Given the description of an element on the screen output the (x, y) to click on. 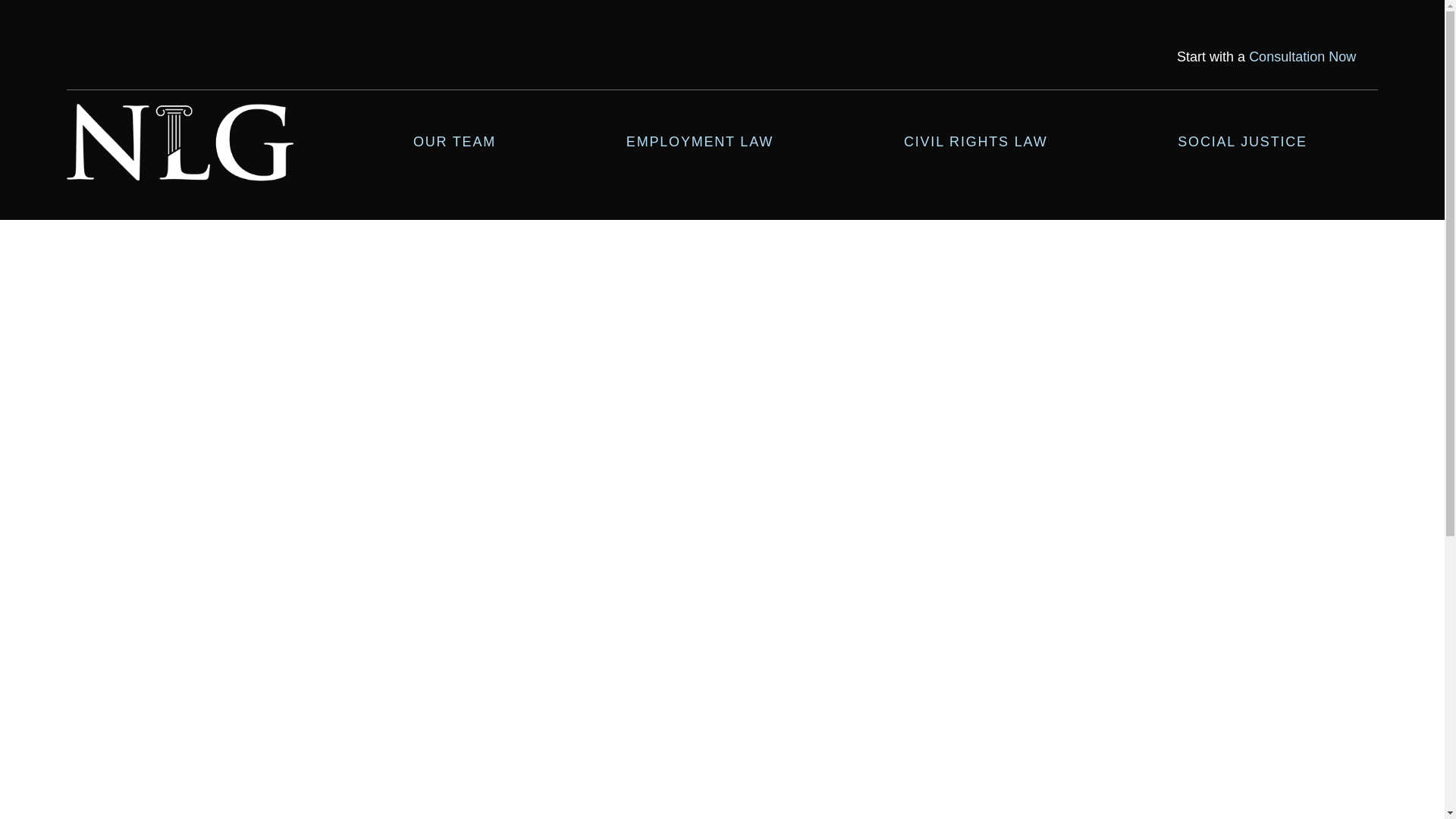
Nisar Law Group, P.C. (180, 142)
OUR TEAM (454, 142)
Open the accessibility options menu (1412, 786)
Consultation Now (1302, 56)
EMPLOYMENT LAW (699, 142)
